Given the description of an element on the screen output the (x, y) to click on. 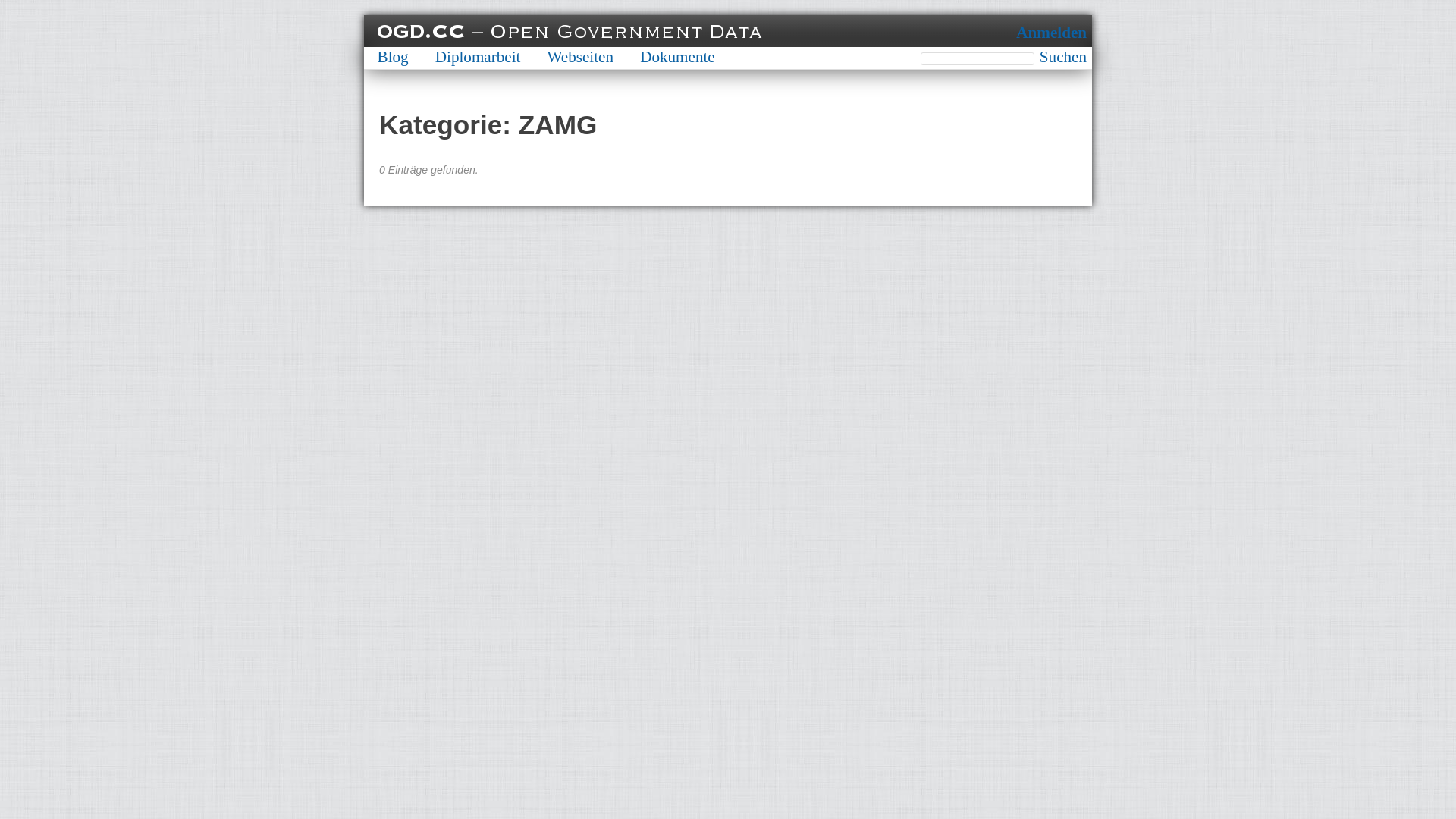
Blog Element type: text (392, 56)
Suchen Element type: text (1063, 58)
Anmelden Element type: text (1051, 32)
Webseiten Element type: text (580, 56)
Dokumente Element type: text (677, 56)
Diplomarbeit Element type: text (477, 56)
